Given the description of an element on the screen output the (x, y) to click on. 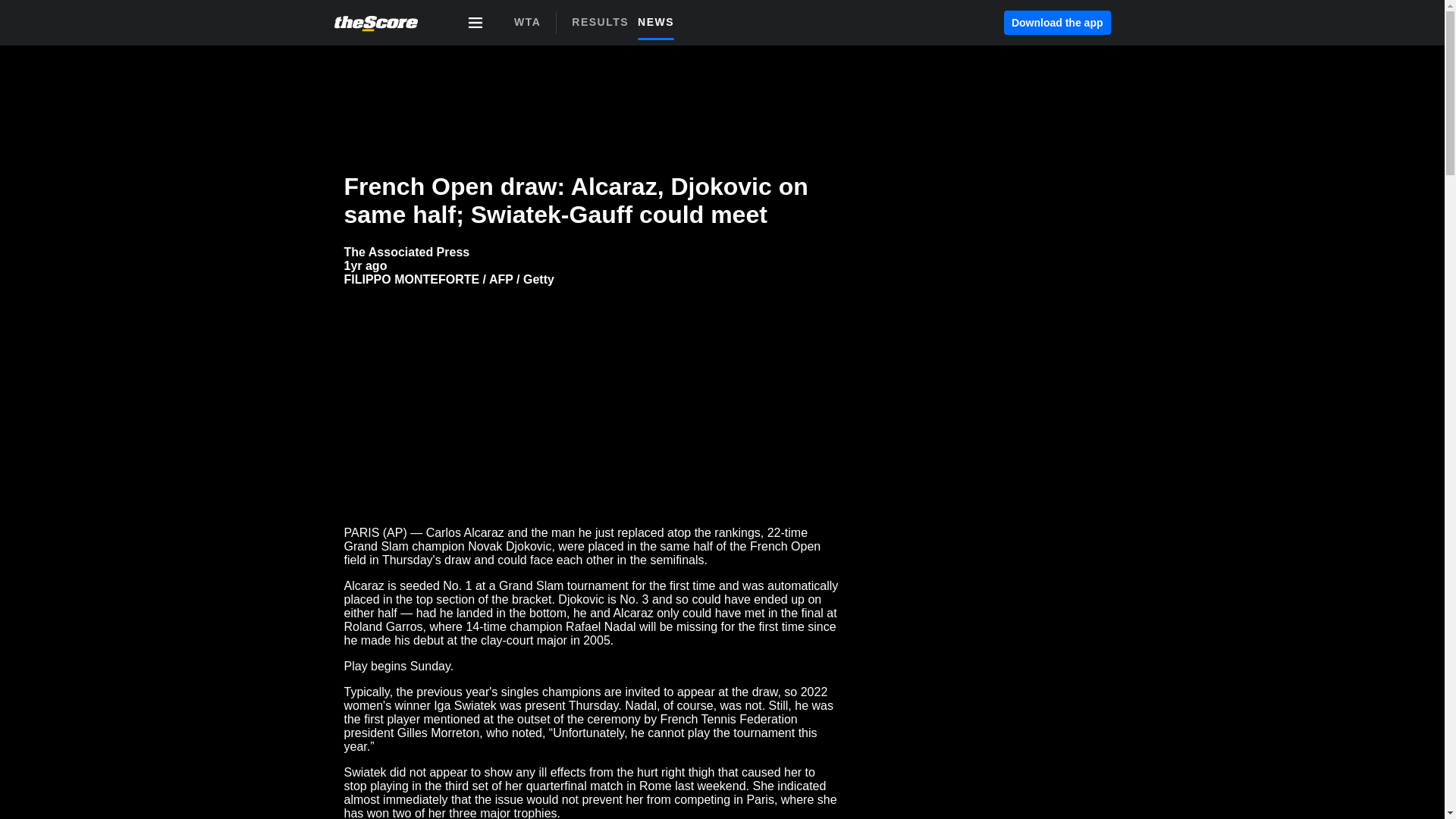
WTA (526, 22)
Download the app (1057, 22)
2023-05-25T13:38:08.000Z (627, 26)
RESULTS (365, 265)
NEWS (604, 21)
